Given the description of an element on the screen output the (x, y) to click on. 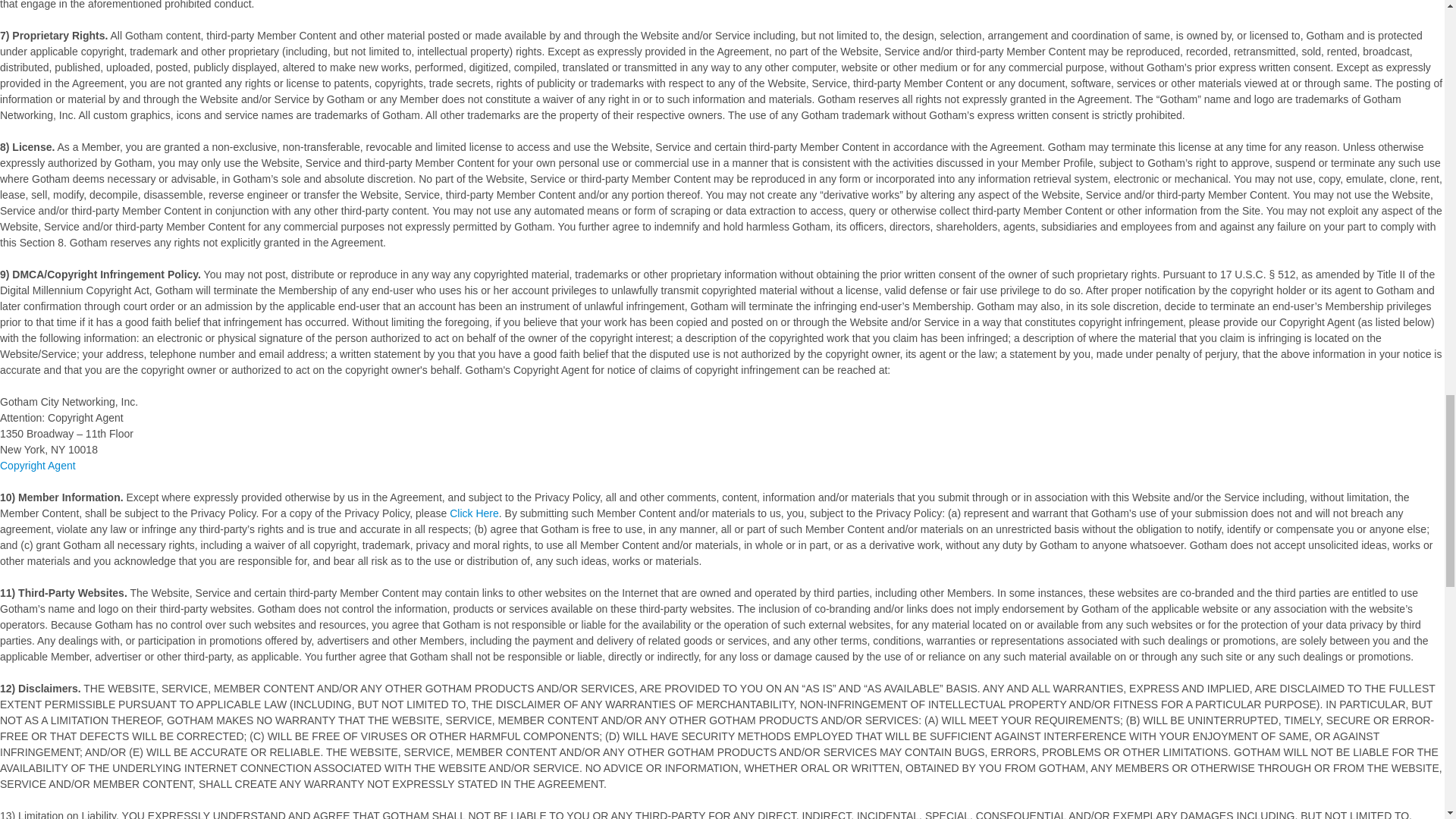
Copyright Agent (37, 465)
Click Here (474, 512)
